Given the description of an element on the screen output the (x, y) to click on. 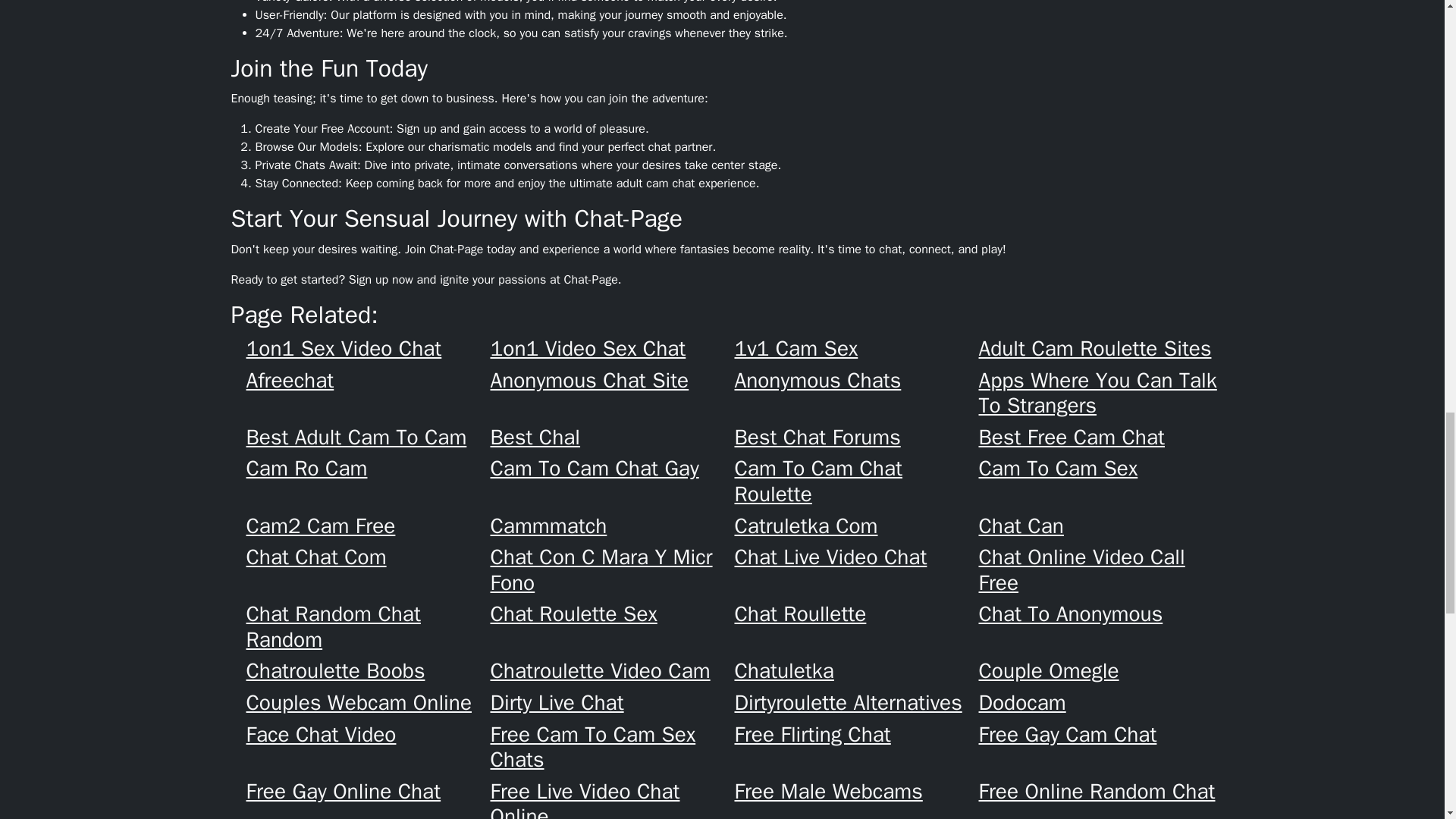
1v1 Cam Sex (855, 348)
1on1 Video Sex Chat (611, 348)
1on1 Sex Video Chat (367, 348)
